Given the description of an element on the screen output the (x, y) to click on. 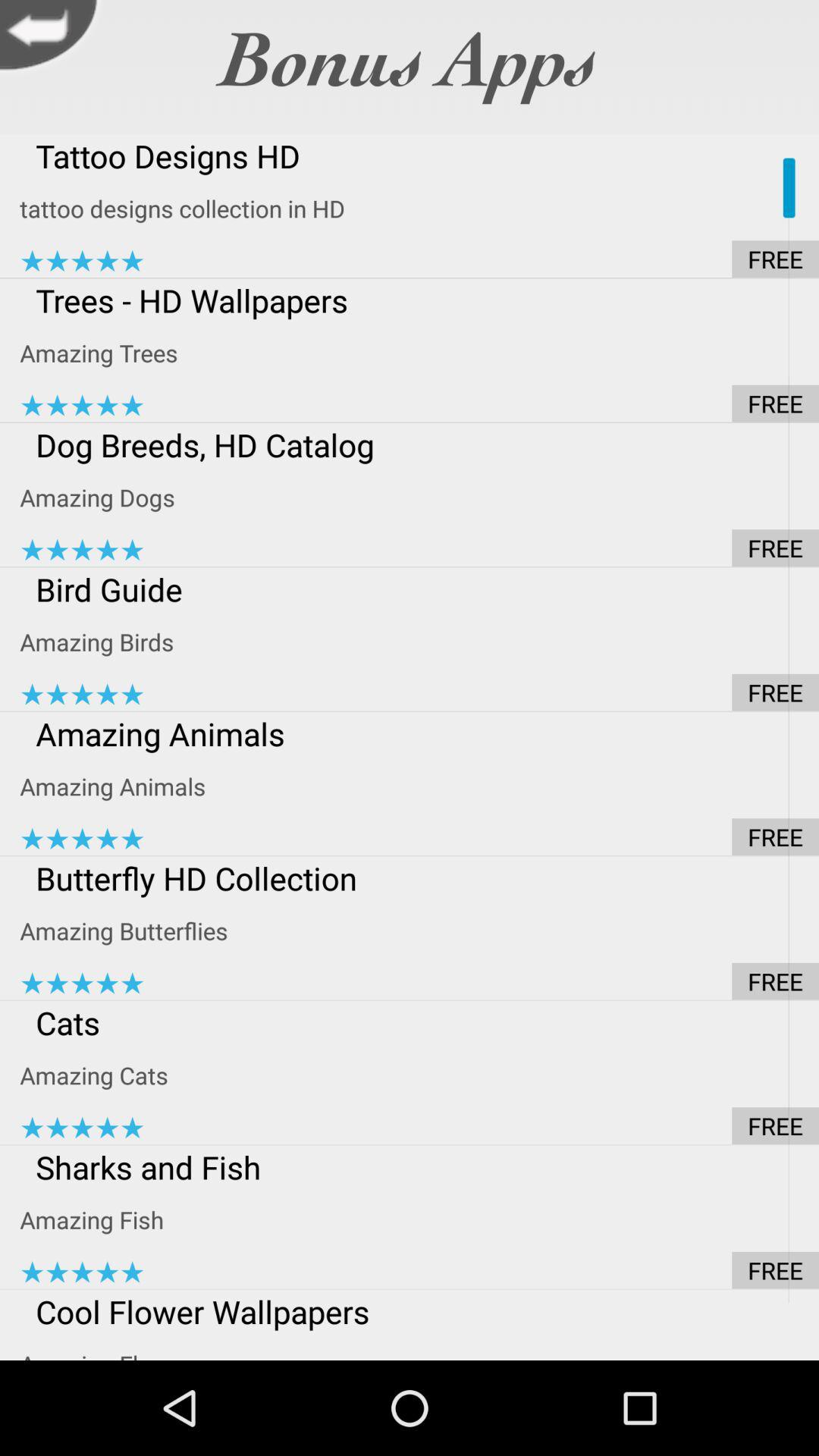
flip until the dog breeds hd item (419, 444)
